Given the description of an element on the screen output the (x, y) to click on. 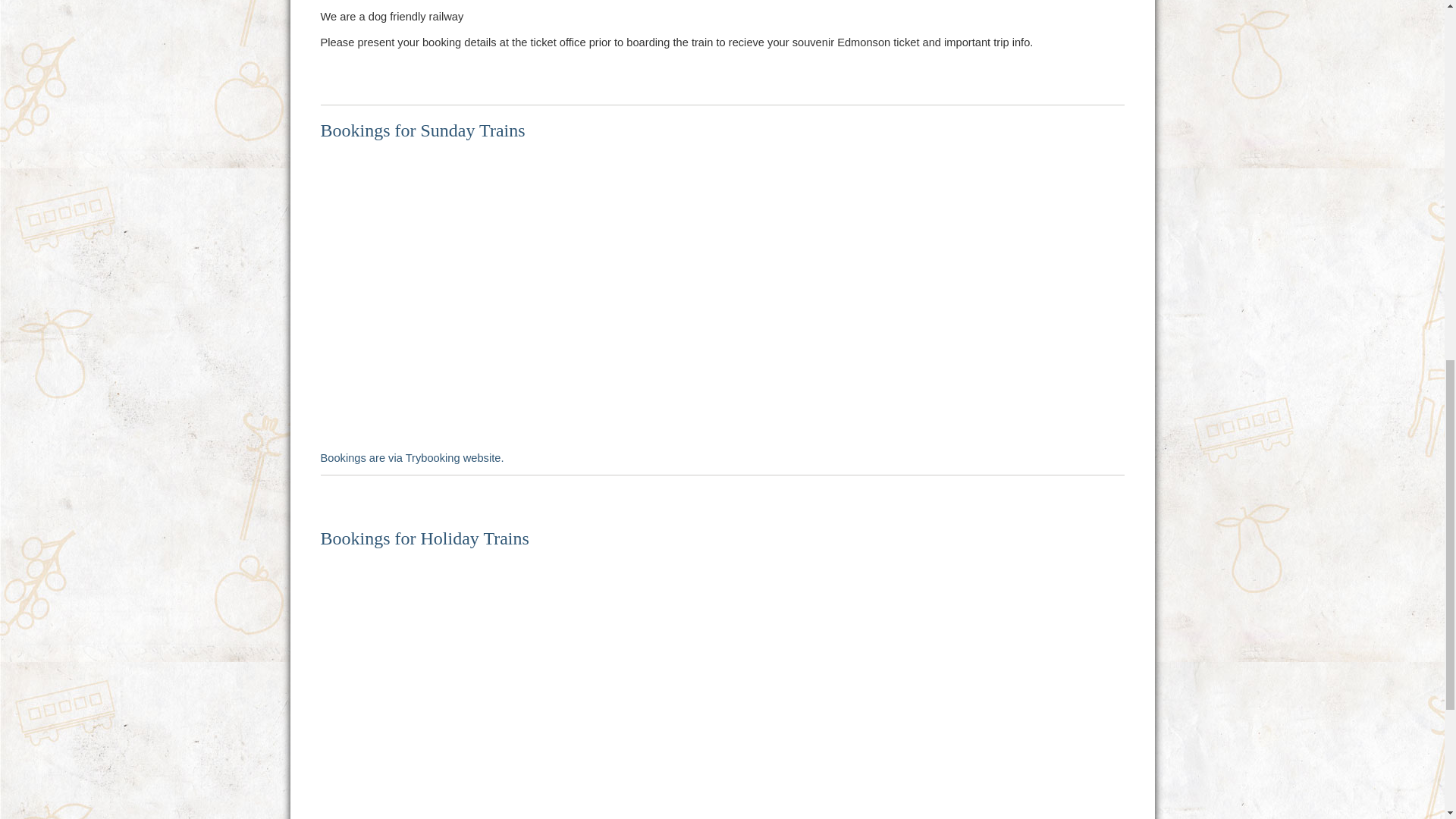
Bookings are via Trybooking website. (411, 458)
